Given the description of an element on the screen output the (x, y) to click on. 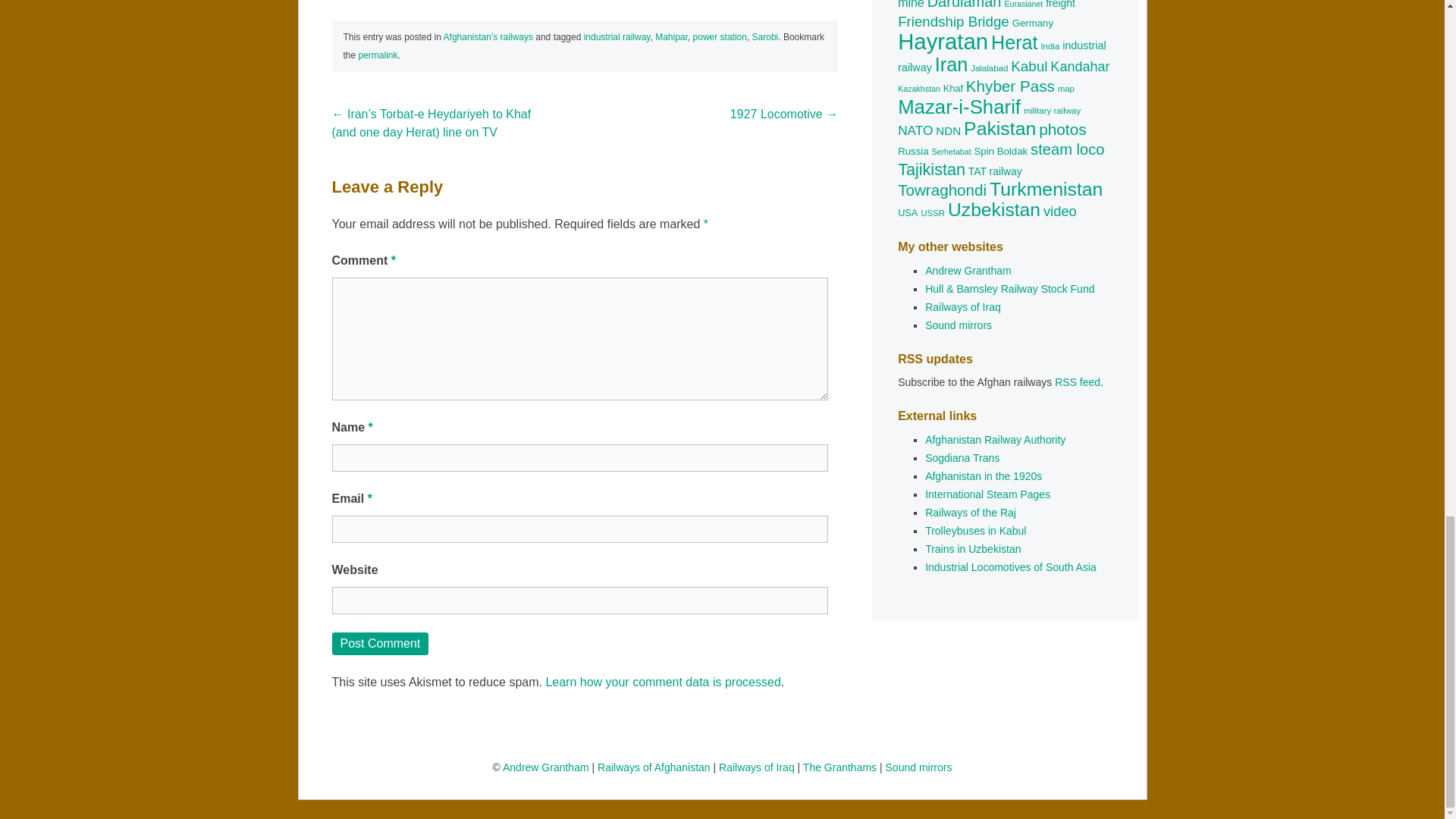
Post Comment (380, 643)
permalink (377, 54)
Post Comment (380, 643)
Sarobi (765, 36)
industrial railway (616, 36)
Afghanistan's railways (488, 36)
Mahipar (671, 36)
Learn how your comment data is processed (662, 681)
power station (719, 36)
